Given the description of an element on the screen output the (x, y) to click on. 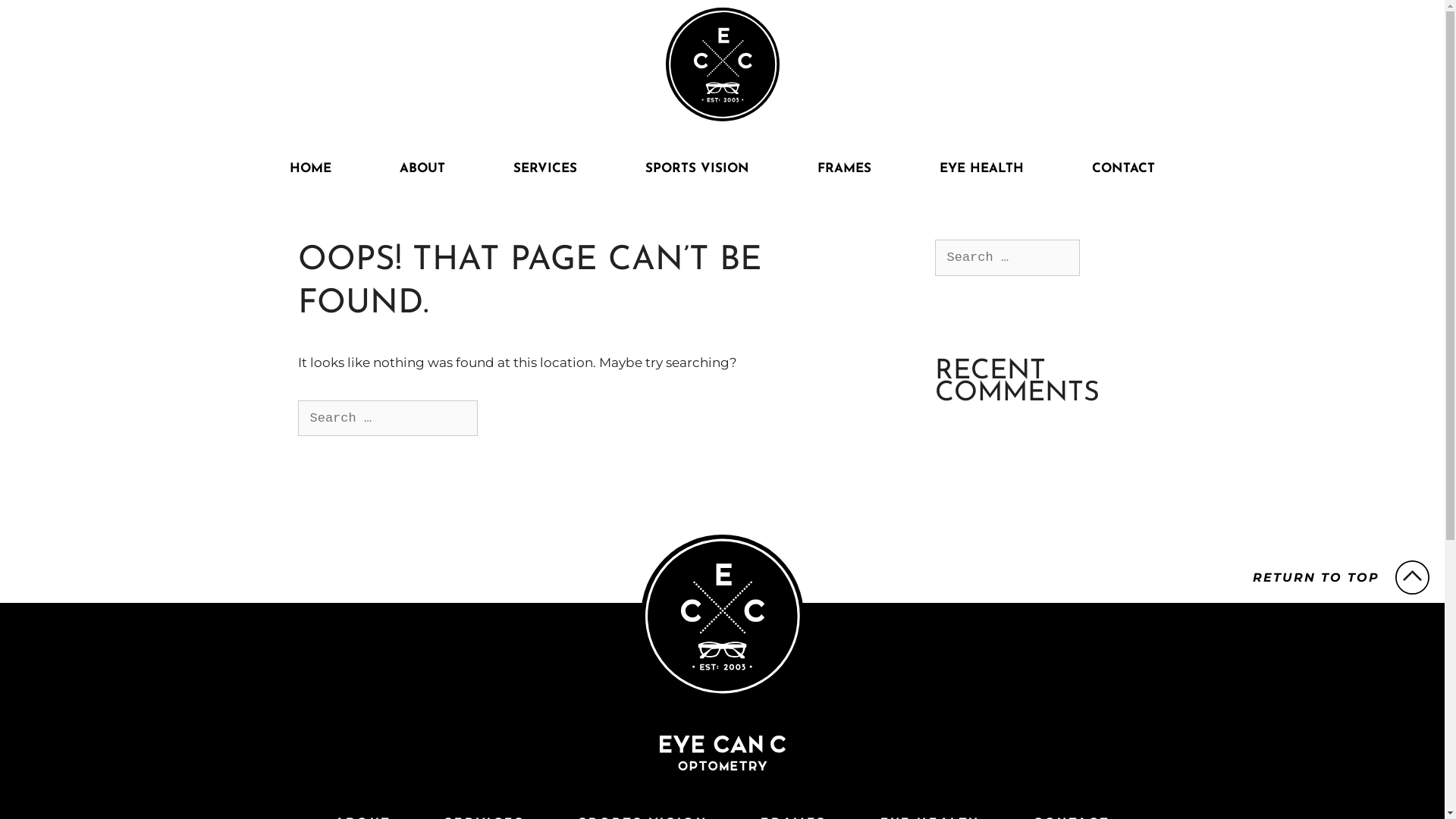
FRAMES Element type: text (844, 168)
EYE HEALTH Element type: text (981, 168)
ABOUT Element type: text (422, 168)
Search for: Element type: hover (1006, 257)
SPORTS VISION Element type: text (697, 168)
SERVICES Element type: text (545, 168)
CONTACT Element type: text (1123, 168)
Search for: Element type: hover (386, 418)
HOME Element type: text (311, 168)
RETURN TO TOP Element type: text (1341, 577)
